Given the description of an element on the screen output the (x, y) to click on. 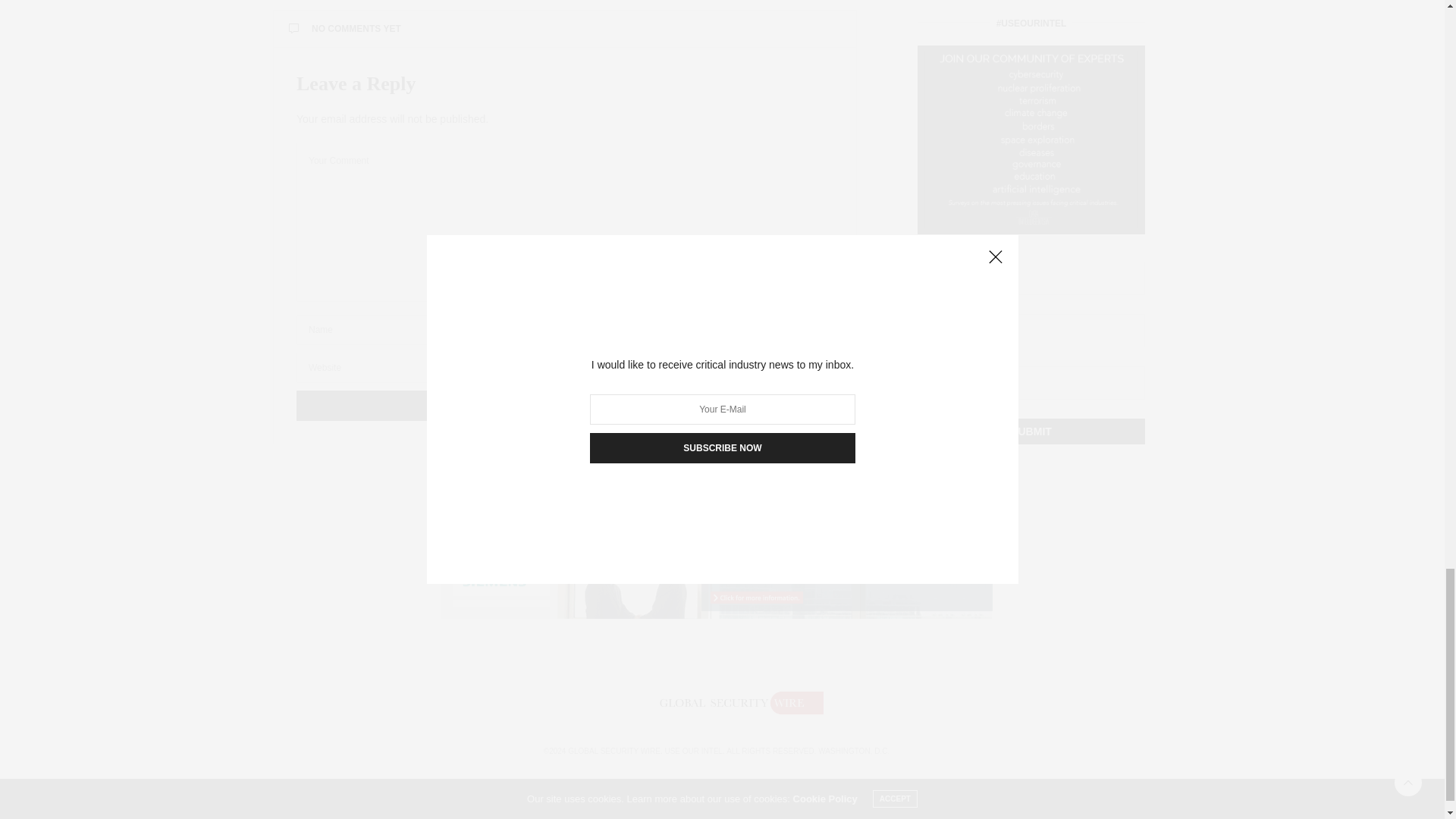
Submit Comment (564, 405)
